Given the description of an element on the screen output the (x, y) to click on. 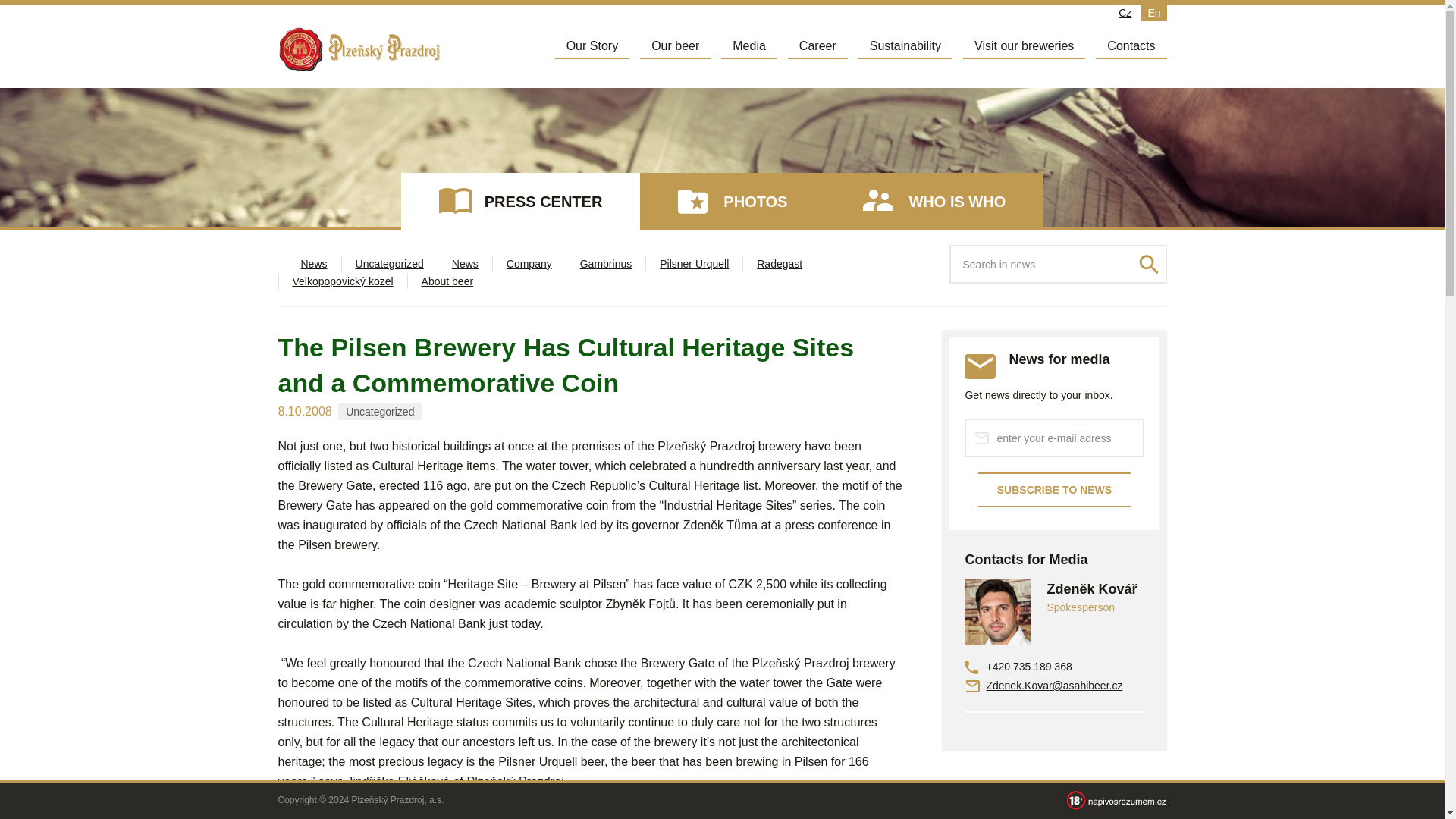
Our beer (675, 45)
Skip to primary content (612, 43)
Contacts (1131, 45)
Media (748, 45)
Visit our breweries (1023, 45)
Sustainability (905, 45)
Career (817, 45)
Pilsner Urquell (694, 263)
PRESS CENTER (520, 201)
Uncategorized (389, 263)
